Given the description of an element on the screen output the (x, y) to click on. 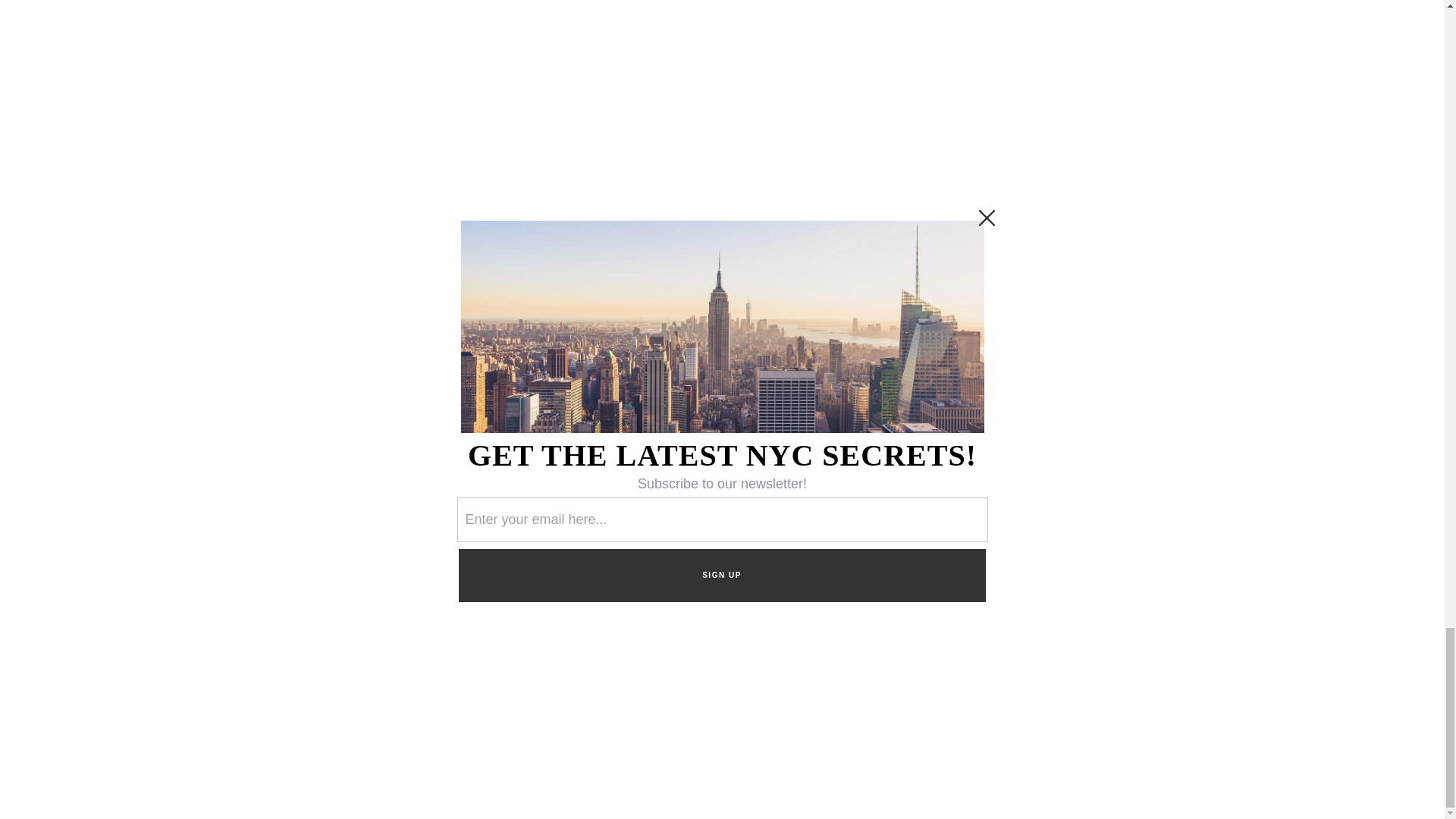
Sign up (1023, 349)
e99a09560c (984, 307)
7cff6a70fd (1024, 307)
